Given the description of an element on the screen output the (x, y) to click on. 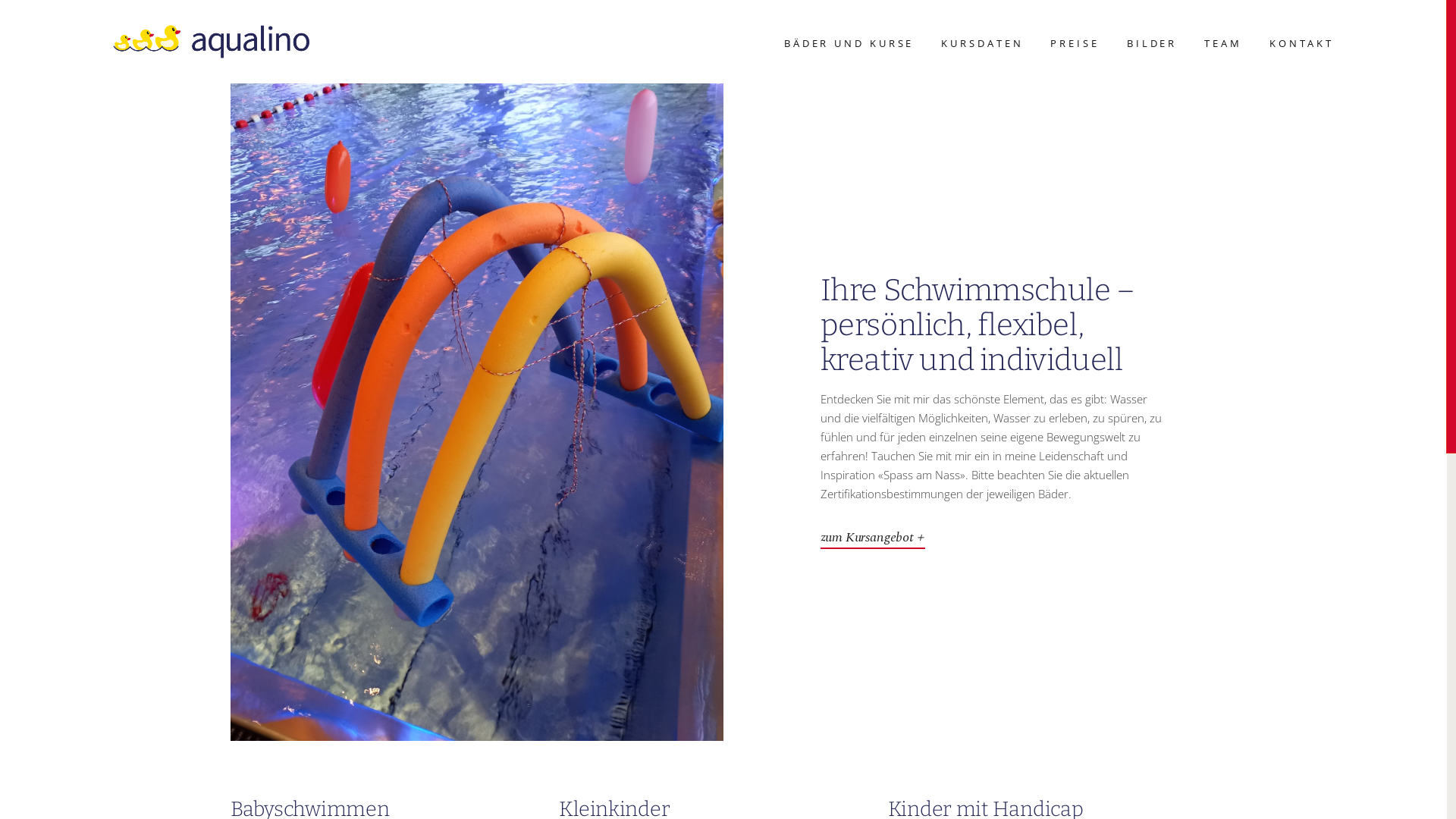
TEAM Element type: text (1223, 43)
KURSDATEN Element type: text (981, 43)
BILDER Element type: text (1151, 43)
zum Kursangebot Element type: text (872, 537)
KONTAKT Element type: text (1301, 43)
PREISE Element type: text (1074, 43)
